Given the description of an element on the screen output the (x, y) to click on. 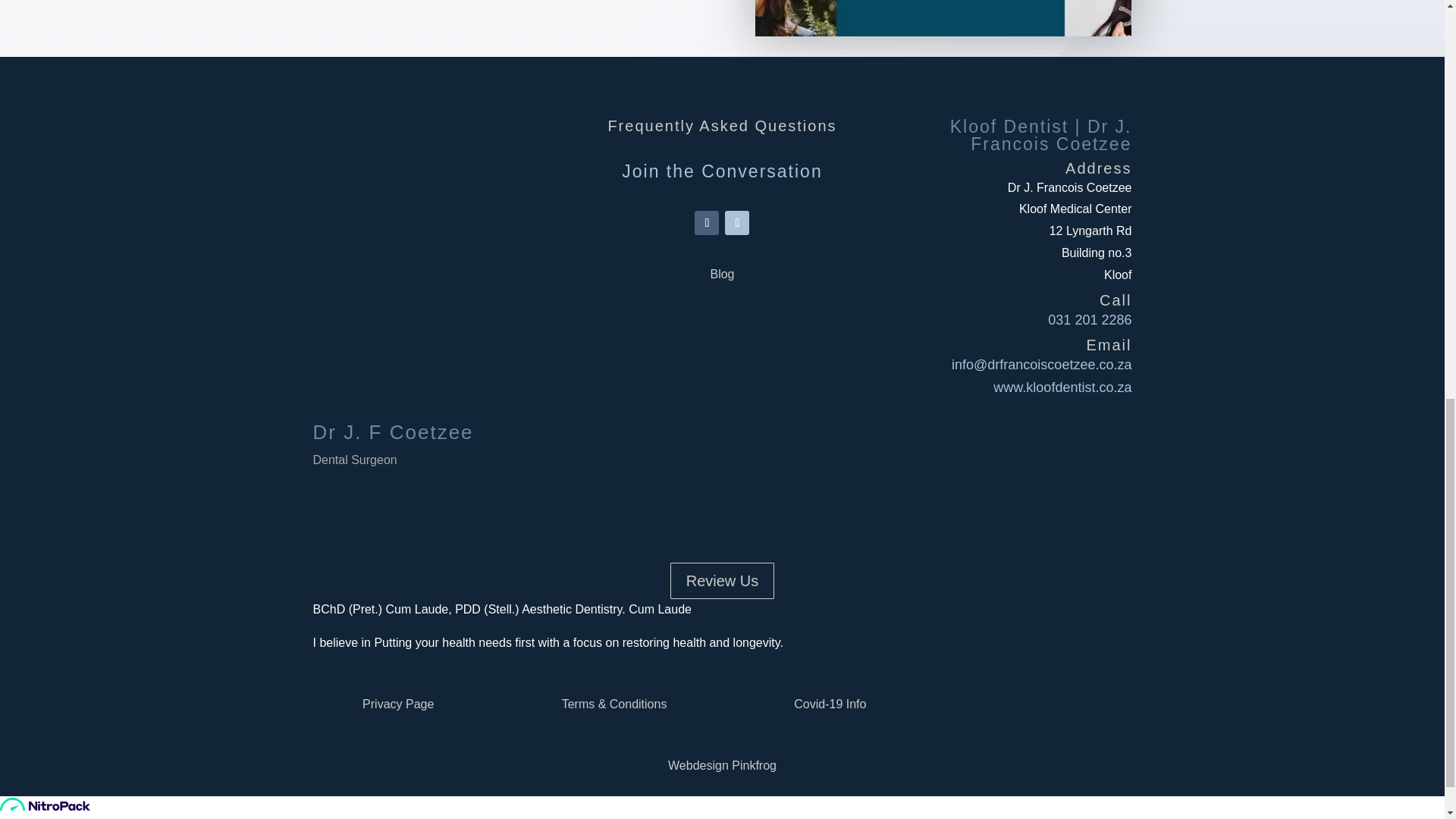
Review Us (721, 580)
Covid-19 Info (829, 703)
Frequently Asked Questions (721, 125)
www.kloofdentist.co.za (1061, 387)
Webdesign (698, 765)
Blog (721, 273)
Pinkfrog (754, 765)
031 201 2286 (1089, 319)
Privacy Page (397, 703)
Follow on Facebook (706, 222)
